Given the description of an element on the screen output the (x, y) to click on. 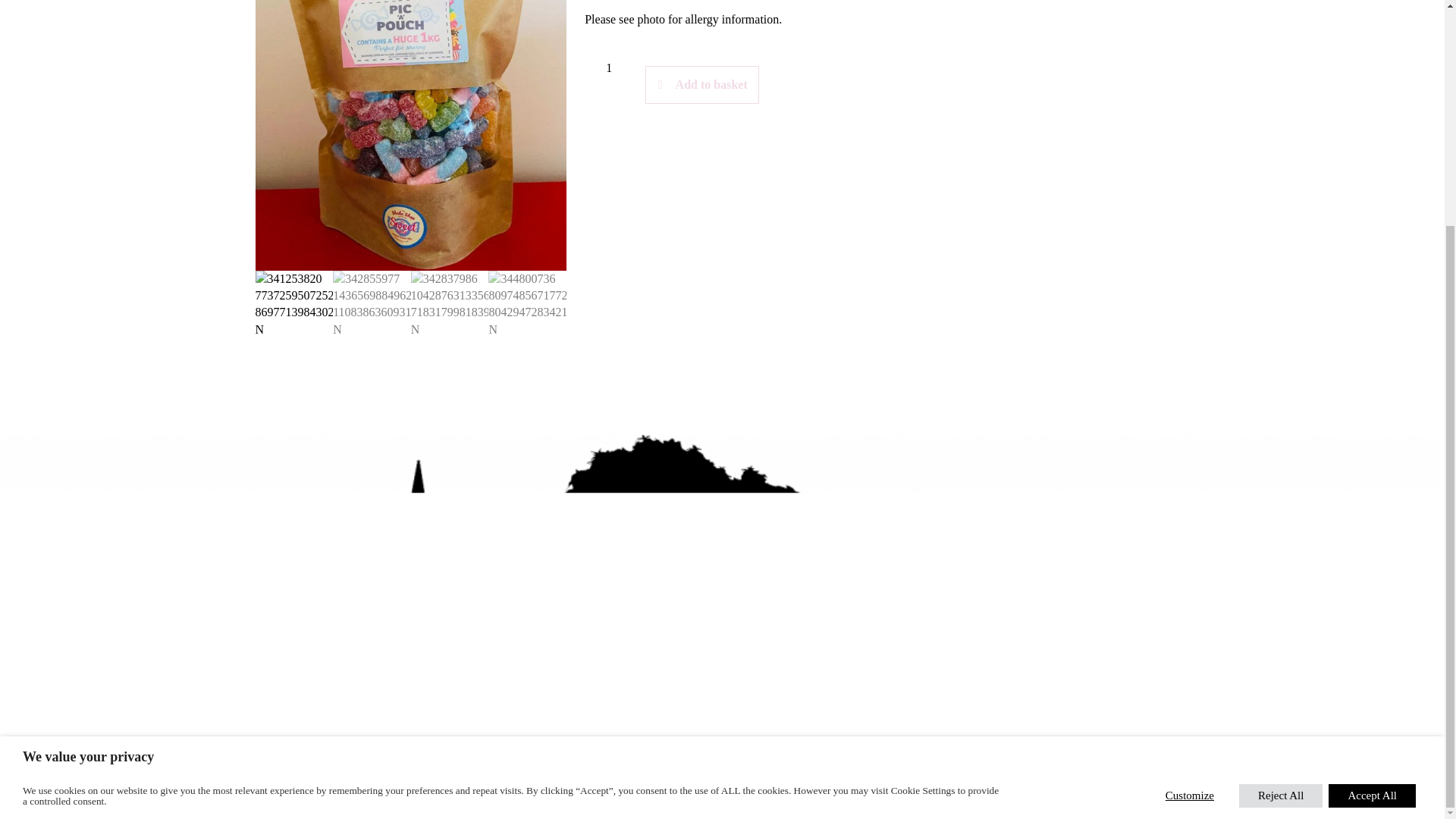
XIST2 (816, 765)
Accept All (1371, 494)
Reject All (1280, 494)
341253820 773725950725282 8697713984302305421 N (410, 135)
342855977 143656988496259 1108386360931077414 N (721, 44)
Site Map (782, 793)
Customize (1190, 493)
1 (609, 67)
Add to basket (701, 85)
